Given the description of an element on the screen output the (x, y) to click on. 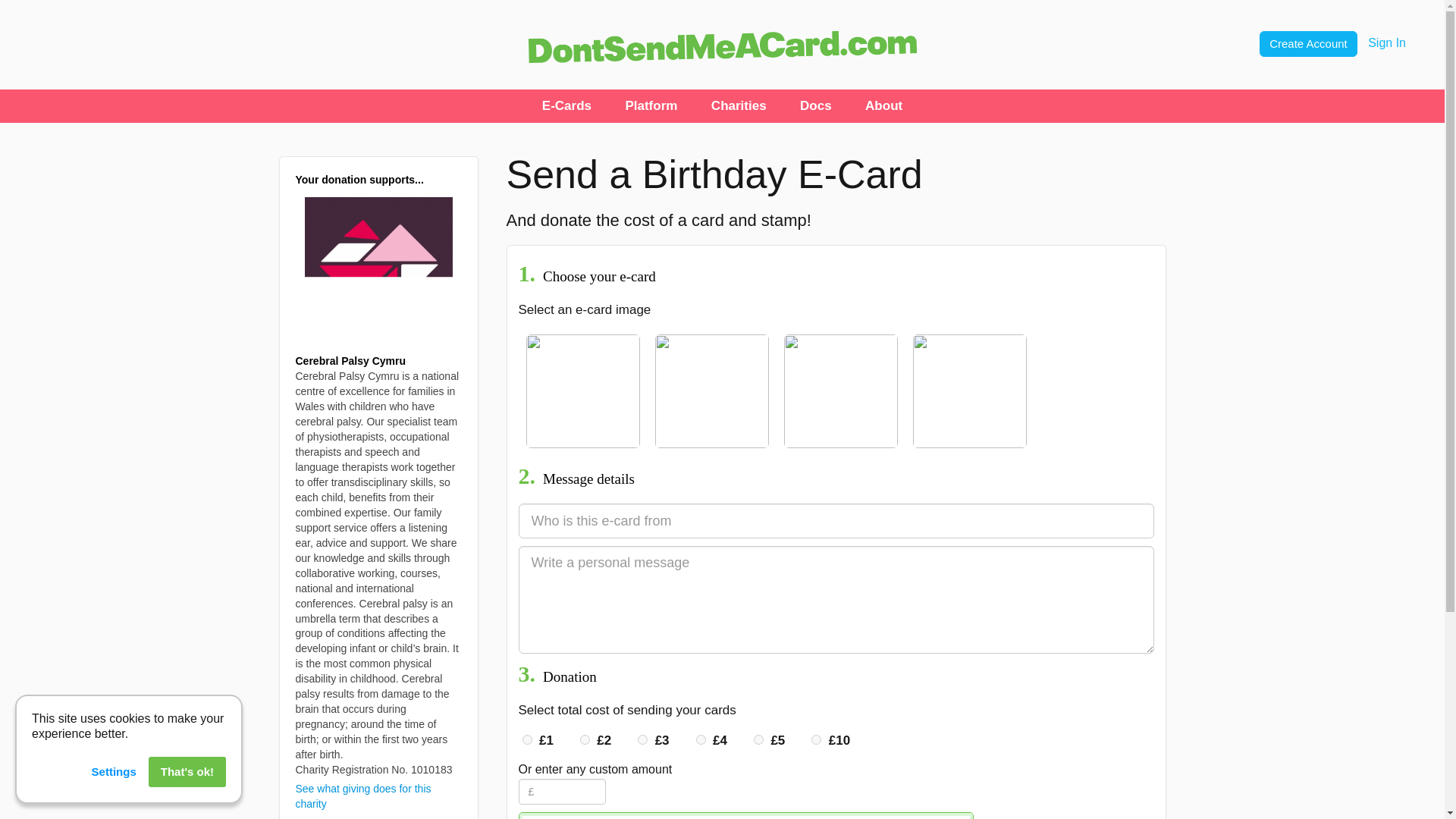
Create Account (1308, 42)
1 (526, 739)
10 (815, 739)
5 (758, 739)
2 (584, 739)
Sign In (1387, 42)
Create Account (1307, 43)
4 (700, 739)
3 (642, 739)
